Given the description of an element on the screen output the (x, y) to click on. 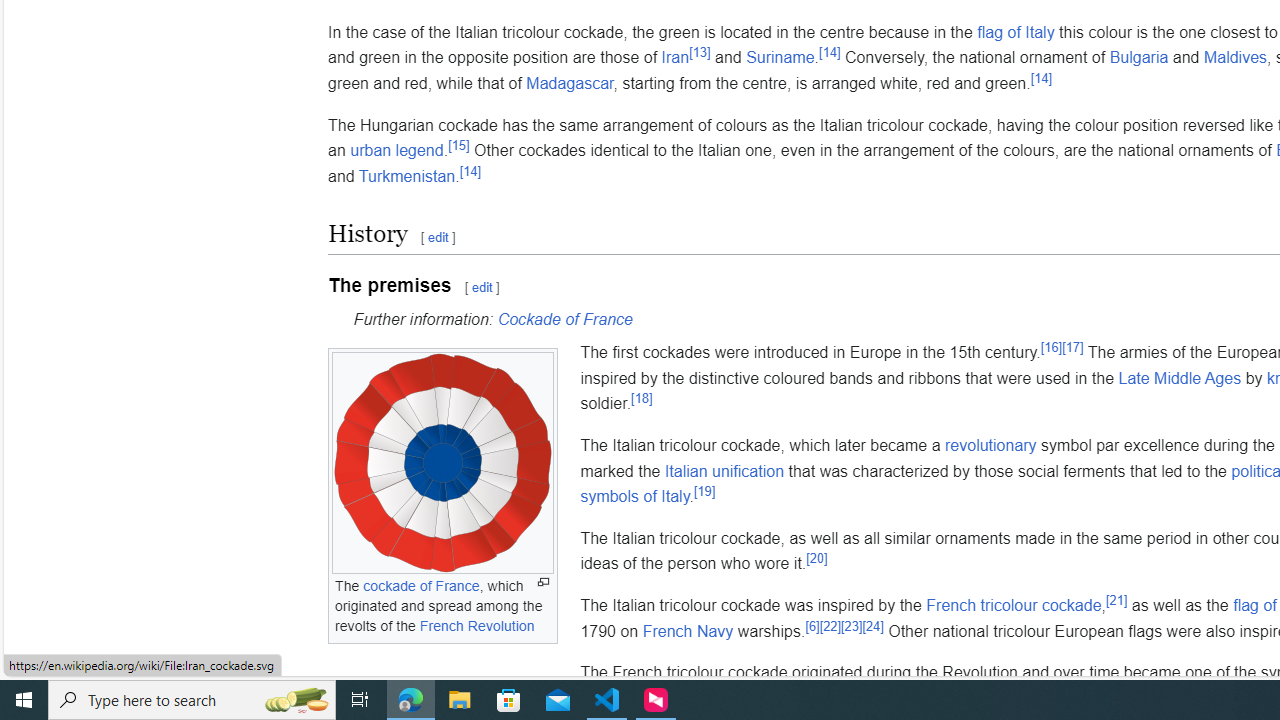
Suriname (780, 57)
[18] (641, 398)
[24] (872, 625)
Madagascar (570, 83)
urban legend (396, 150)
edit (481, 287)
French Navy (687, 631)
[22] (830, 625)
[13] (699, 52)
Bulgaria (1138, 57)
cockade of France (421, 586)
[17] (1073, 346)
[21] (1115, 599)
Italian unification (724, 471)
[19] (703, 490)
